Given the description of an element on the screen output the (x, y) to click on. 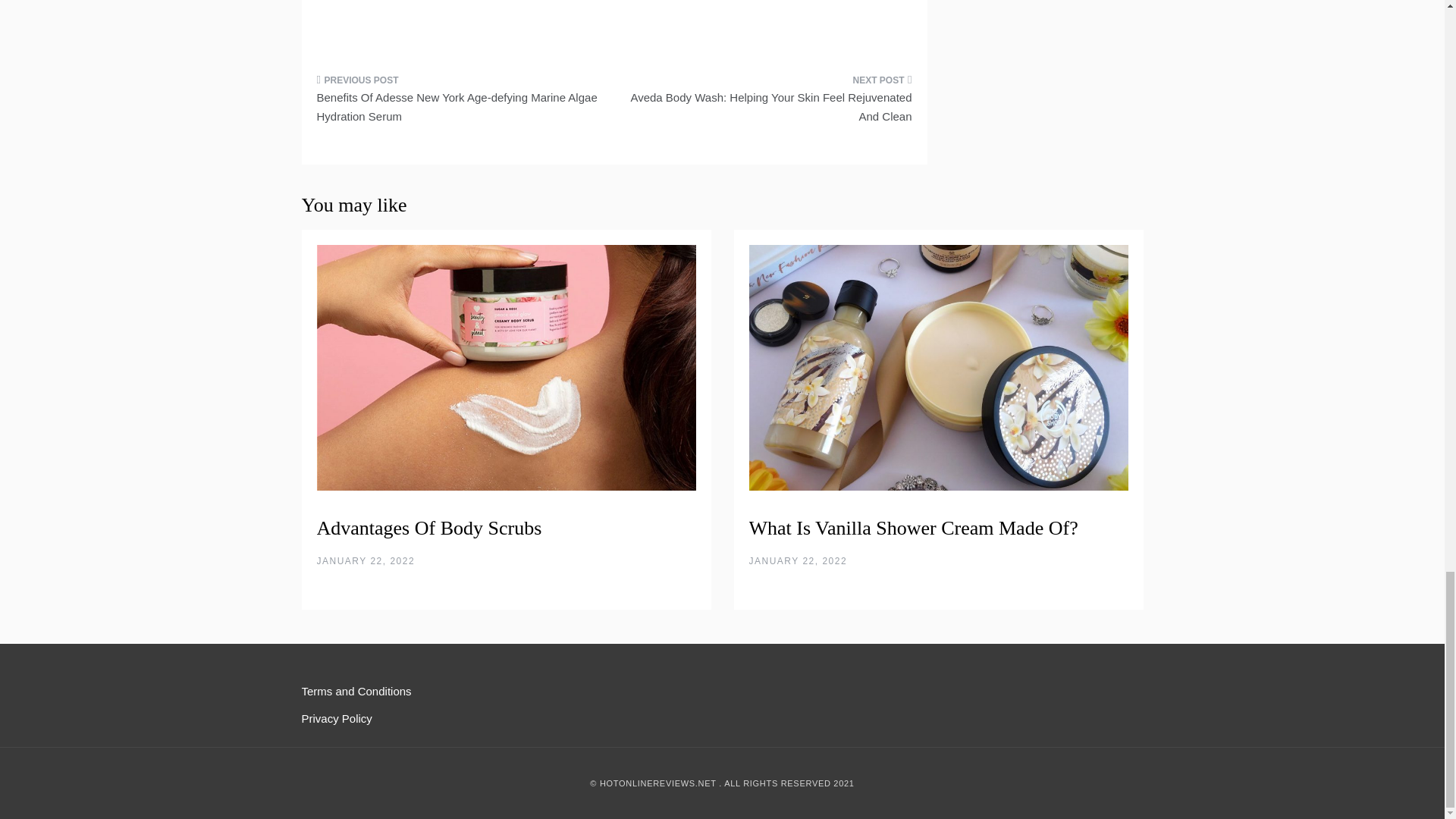
Advantages Of Body Scrubs (429, 527)
Privacy Policy (336, 717)
What Is Vanilla Shower Cream Made Of? (913, 527)
Terms and Conditions (356, 690)
